Given the description of an element on the screen output the (x, y) to click on. 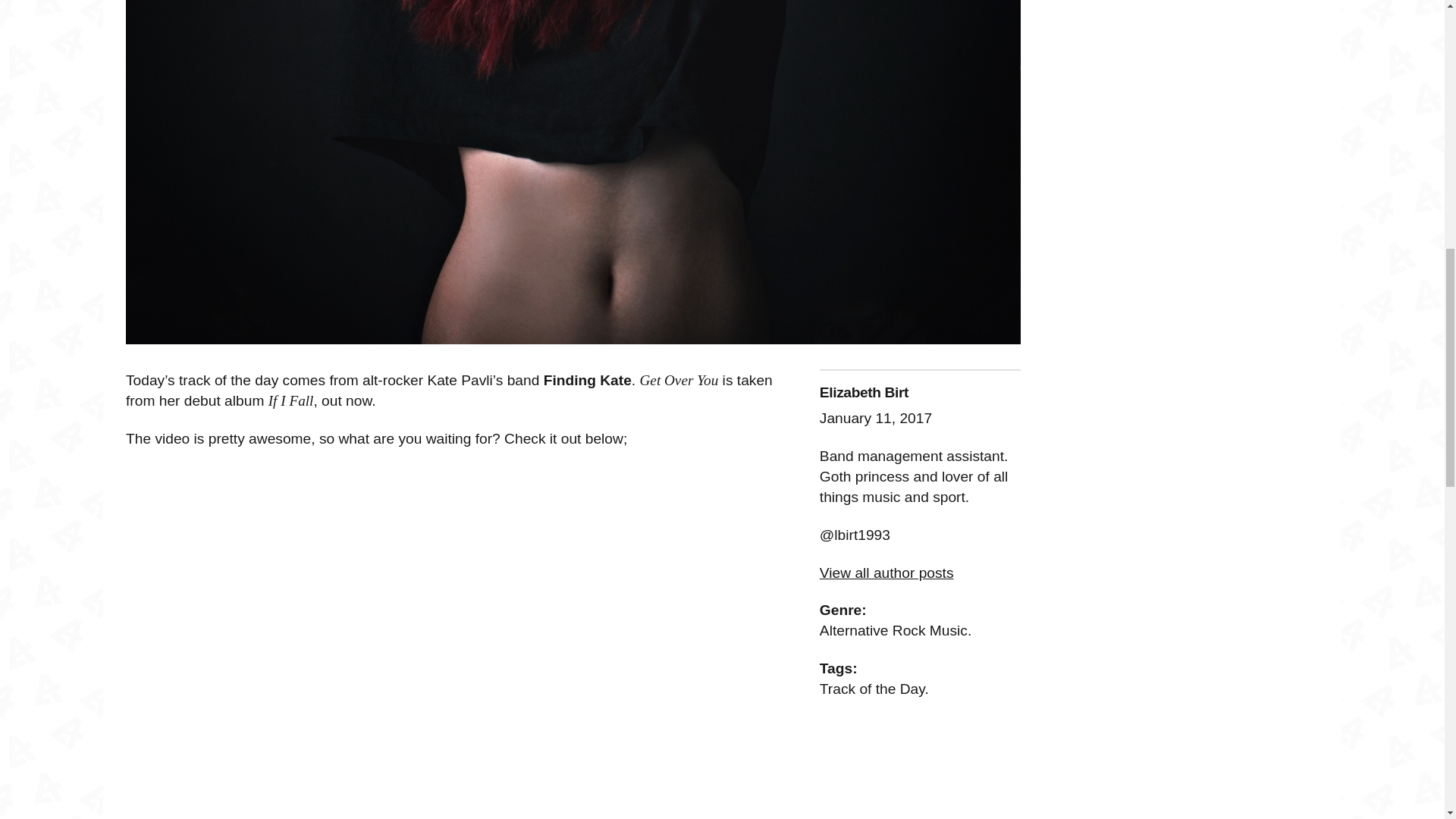
Search (94, 4)
View all author posts (886, 572)
Alternative Rock Music (893, 630)
Track of the Day (871, 688)
View all author posts (886, 572)
